Given the description of an element on the screen output the (x, y) to click on. 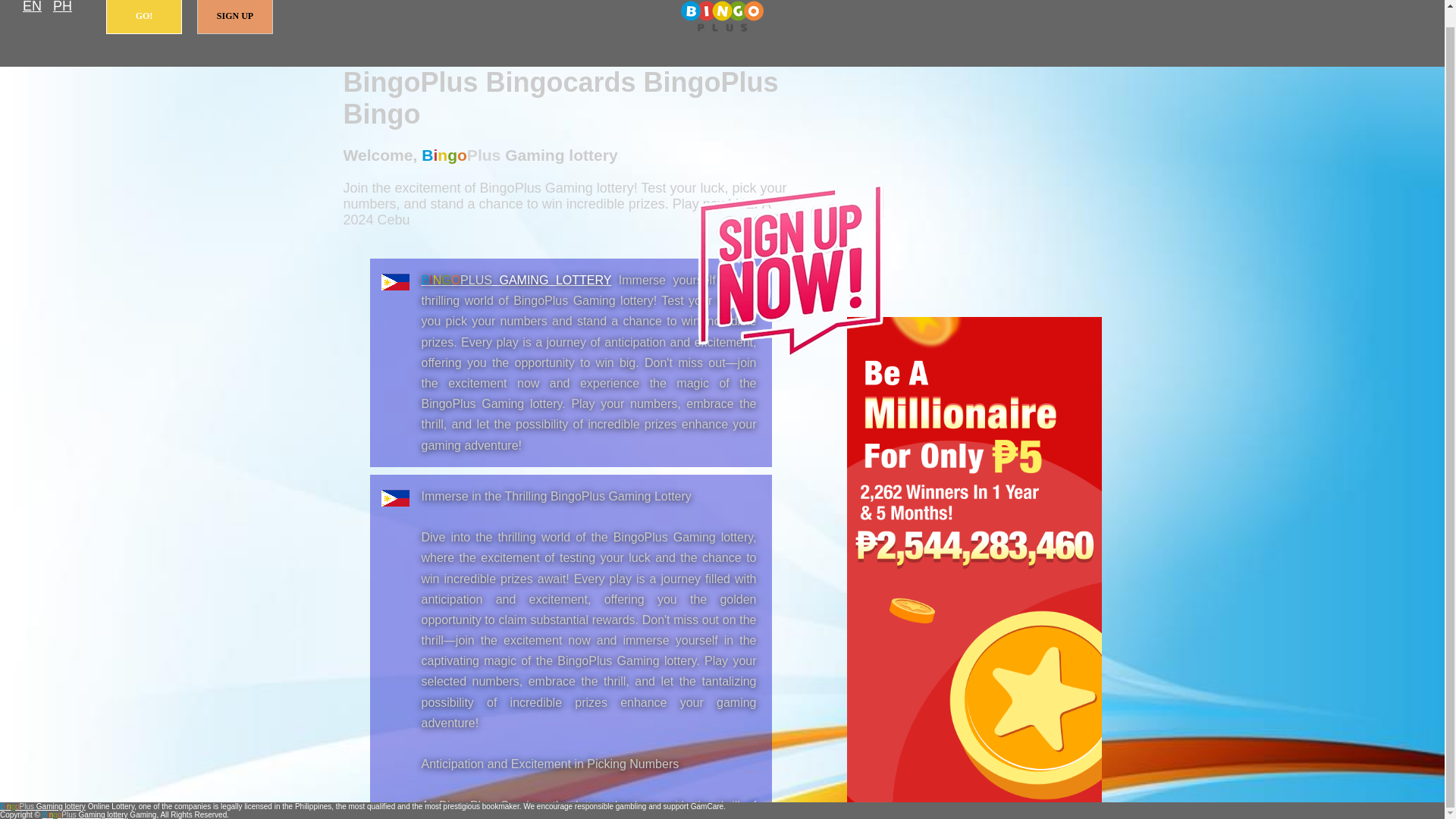
Pilipinas - Filipino (61, 7)
English - Filipino (32, 7)
GO! (144, 17)
EN (32, 7)
BingoPlus Gaming lottery (721, 16)
BINGOPLUS GAMING LOTTERY (516, 279)
SIGN UP (234, 17)
BingoPlus Gaming lottery (516, 279)
PH (61, 7)
BingoPlus Gaming lottery (42, 806)
